Given the description of an element on the screen output the (x, y) to click on. 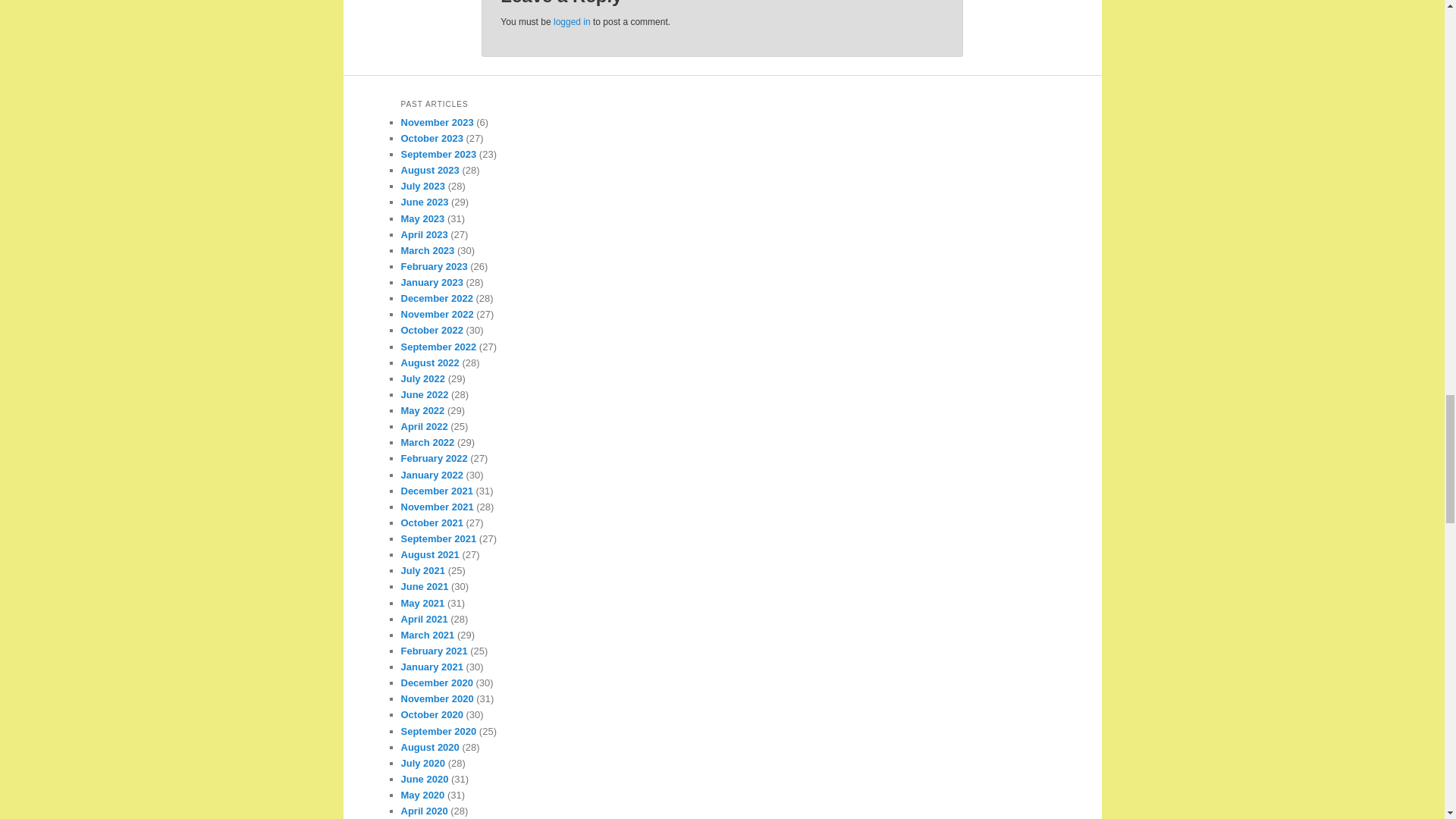
September 2023 (438, 153)
logged in (572, 21)
January 2023 (431, 282)
March 2023 (427, 250)
August 2023 (429, 170)
December 2022 (435, 297)
February 2023 (433, 266)
July 2023 (422, 185)
November 2023 (436, 122)
June 2023 (424, 202)
